Given the description of an element on the screen output the (x, y) to click on. 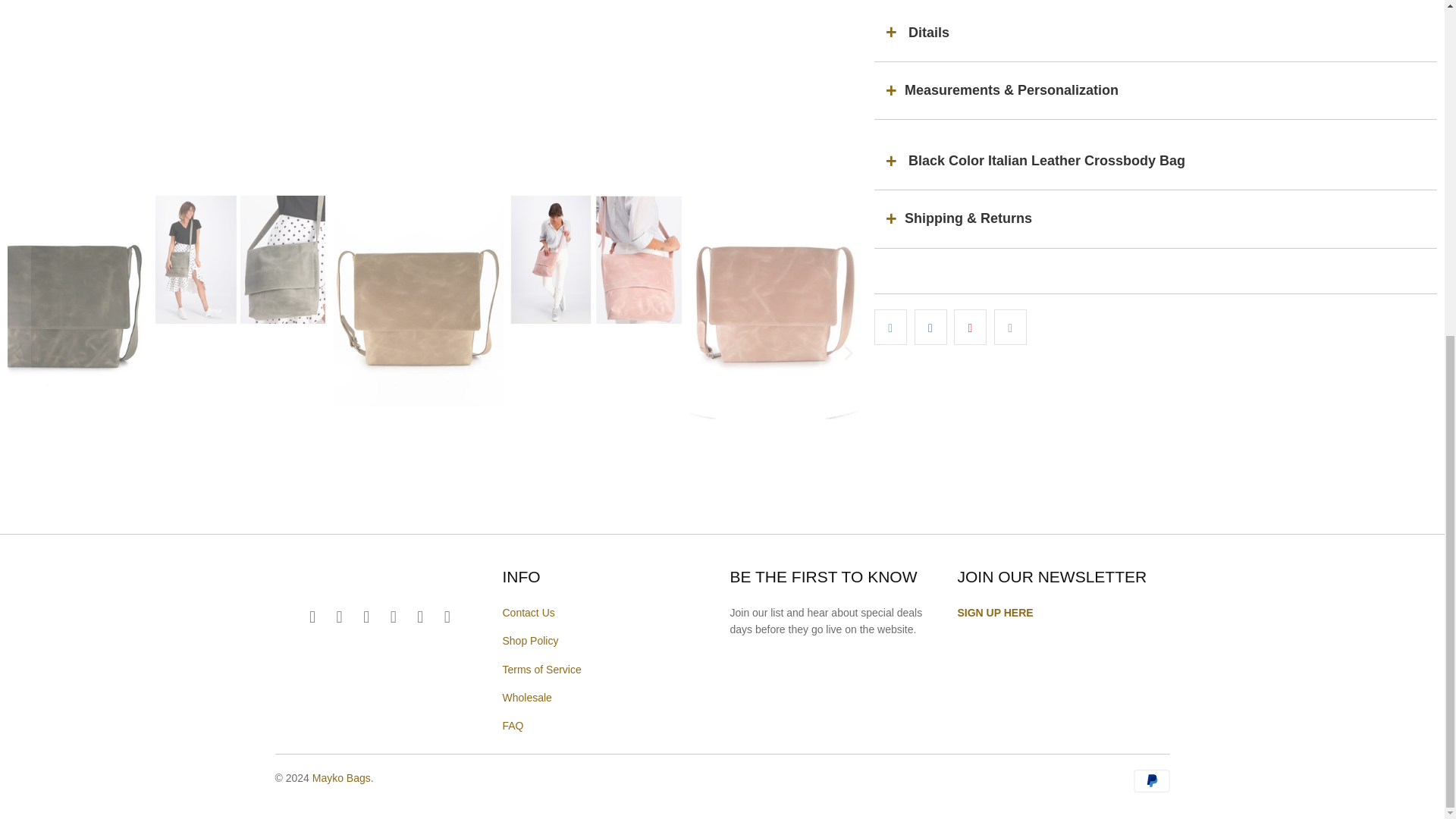
PayPal (1150, 780)
Share this on Twitter (891, 326)
Share this on Facebook (930, 326)
